Given the description of an element on the screen output the (x, y) to click on. 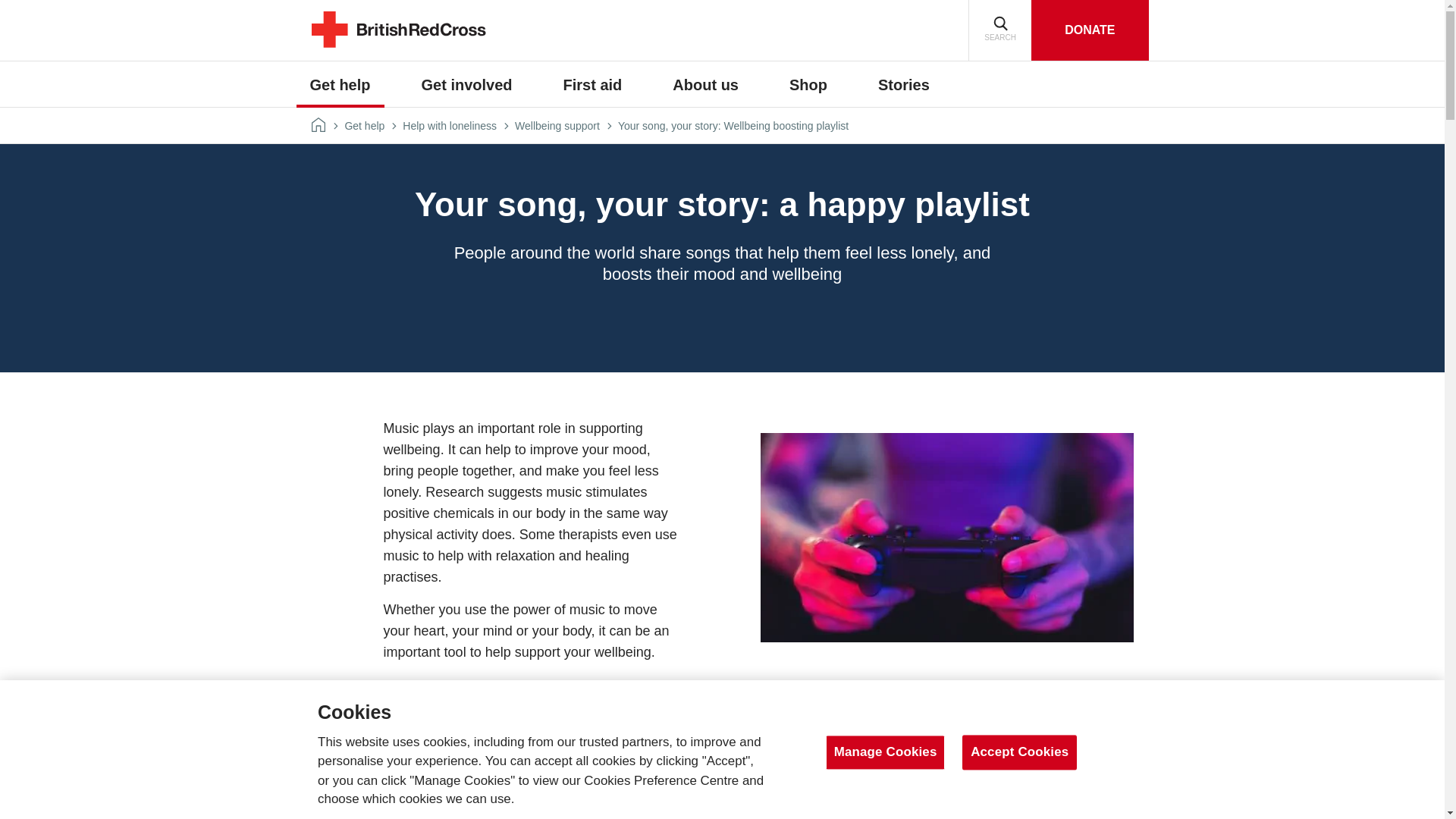
About us (705, 84)
DONATE (1089, 30)
Get help (339, 84)
SEARCH (999, 30)
First aid (593, 84)
Get involved (466, 84)
